Given the description of an element on the screen output the (x, y) to click on. 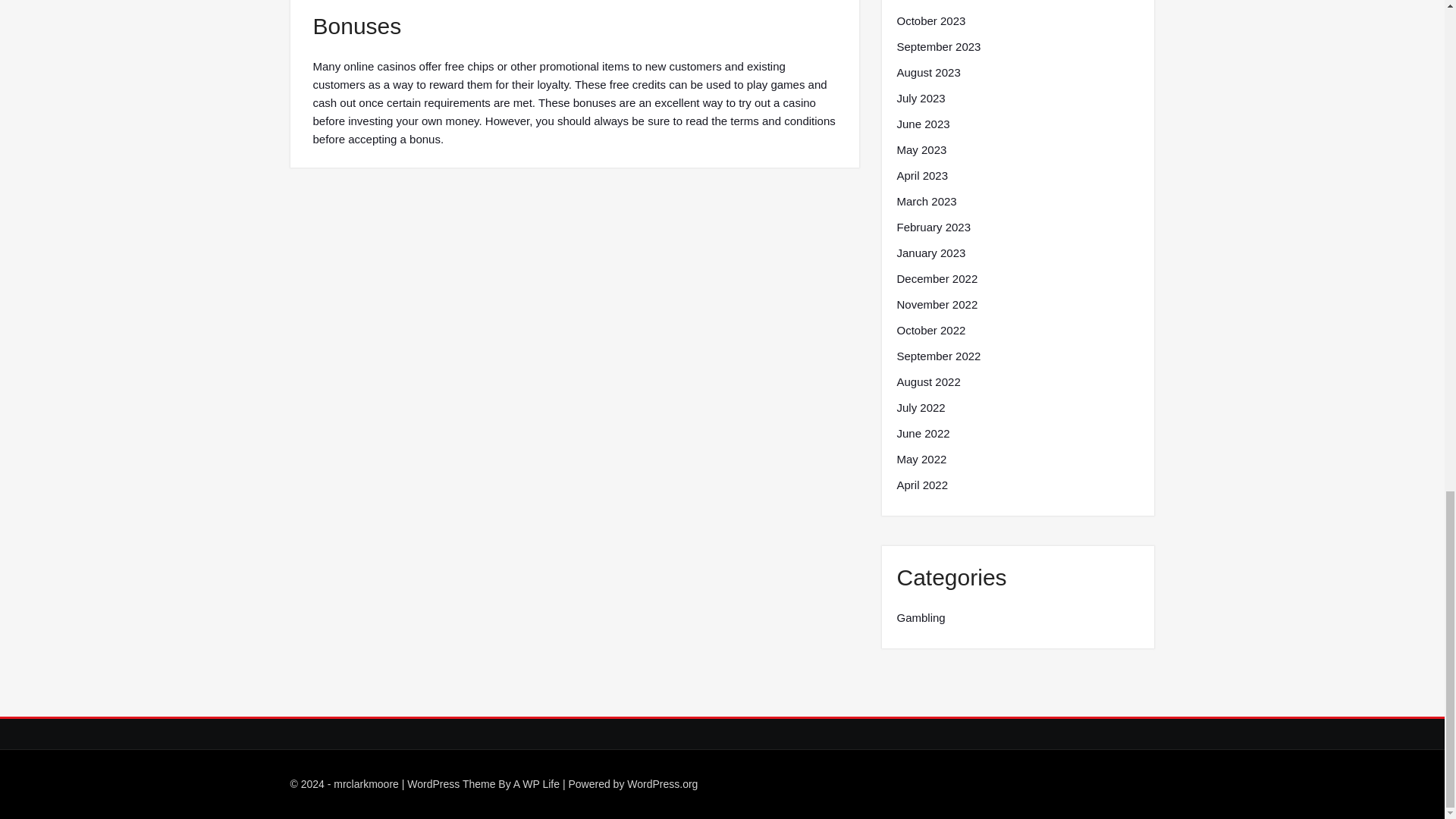
December 2022 (936, 279)
August 2023 (927, 72)
July 2023 (920, 98)
May 2023 (921, 149)
April 2023 (921, 176)
October 2023 (930, 21)
August 2022 (927, 382)
February 2023 (933, 227)
November 2023 (936, 2)
March 2023 (926, 201)
